Given the description of an element on the screen output the (x, y) to click on. 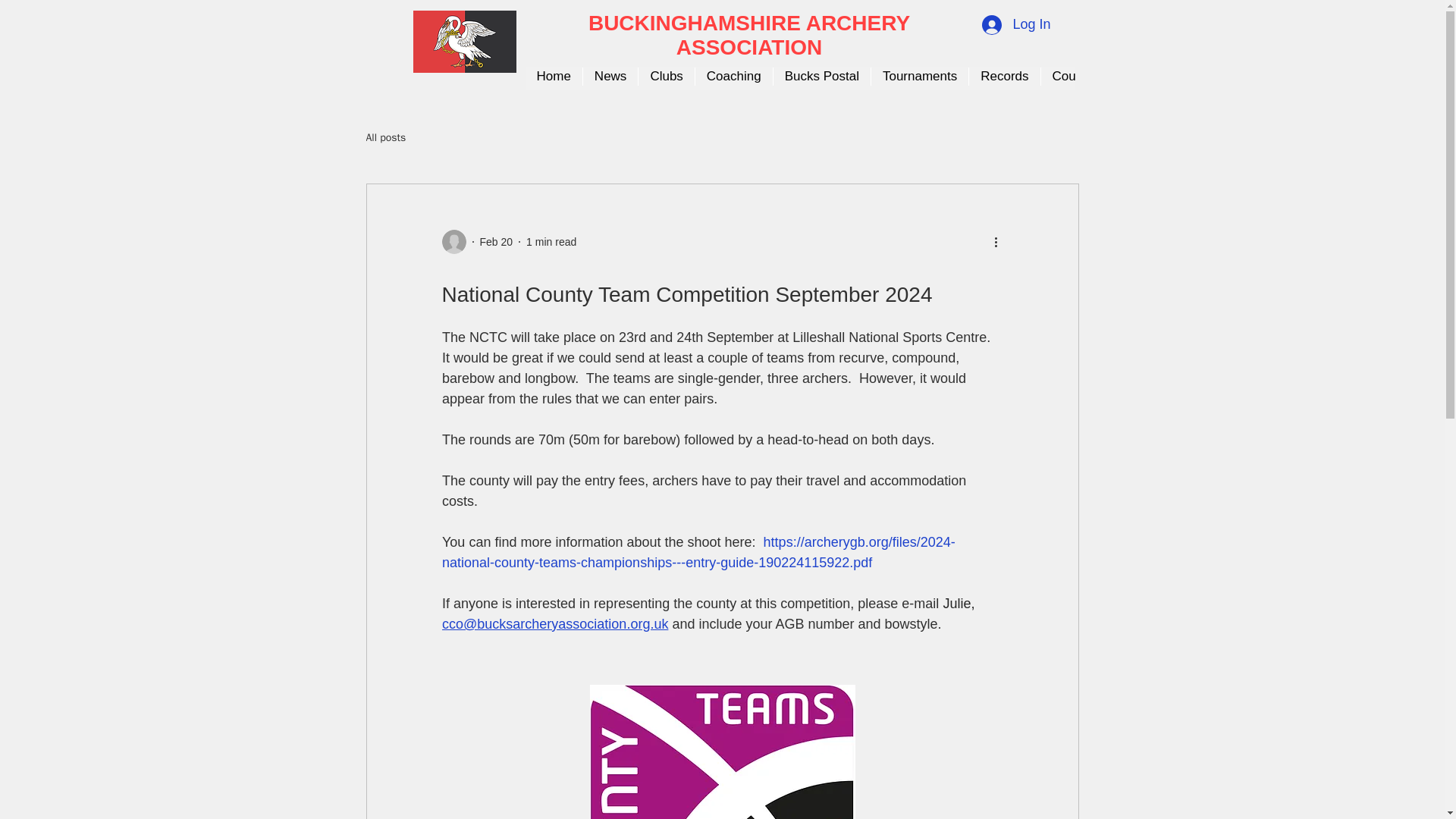
Feb 20 (495, 241)
Records (1003, 78)
Tournaments (919, 78)
Coaching (733, 78)
Home (552, 78)
All posts (385, 137)
News (610, 78)
Log In (1016, 24)
BUCKINGHAMSHIRE ARCHERY ASSOCIATION (749, 34)
1 min read (550, 241)
